Given the description of an element on the screen output the (x, y) to click on. 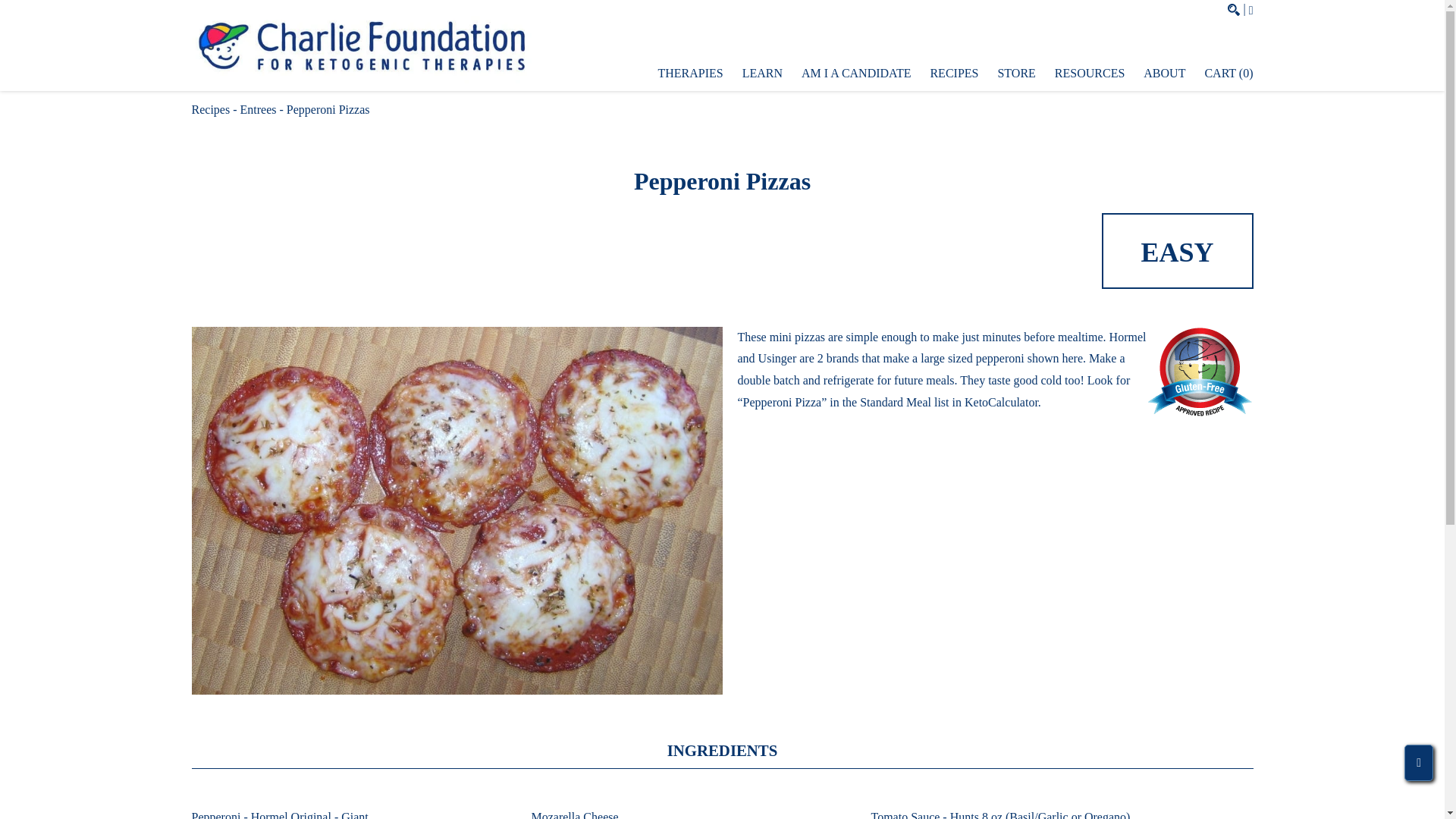
AM I A CANDIDATE (856, 72)
Entrees (258, 109)
STORE (1016, 72)
ABOUT (1163, 72)
LEARN (762, 72)
Recipes (210, 109)
RESOURCES (1089, 72)
RECIPES (954, 72)
THERAPIES (690, 72)
